Given the description of an element on the screen output the (x, y) to click on. 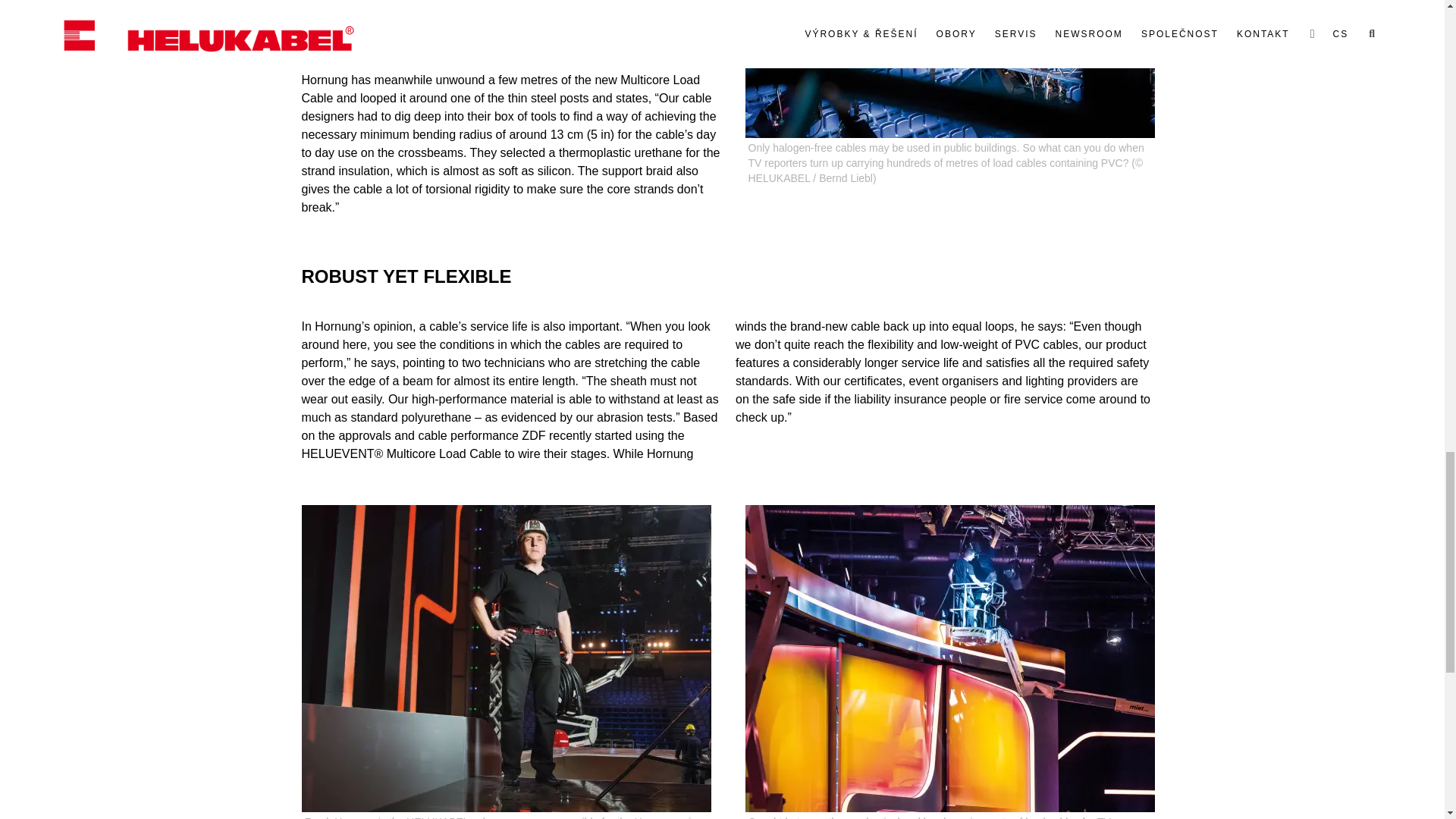
tv studio (949, 658)
Frank Hornung in the tv studio (506, 658)
under the ceiling of the tv studio (949, 69)
